Given the description of an element on the screen output the (x, y) to click on. 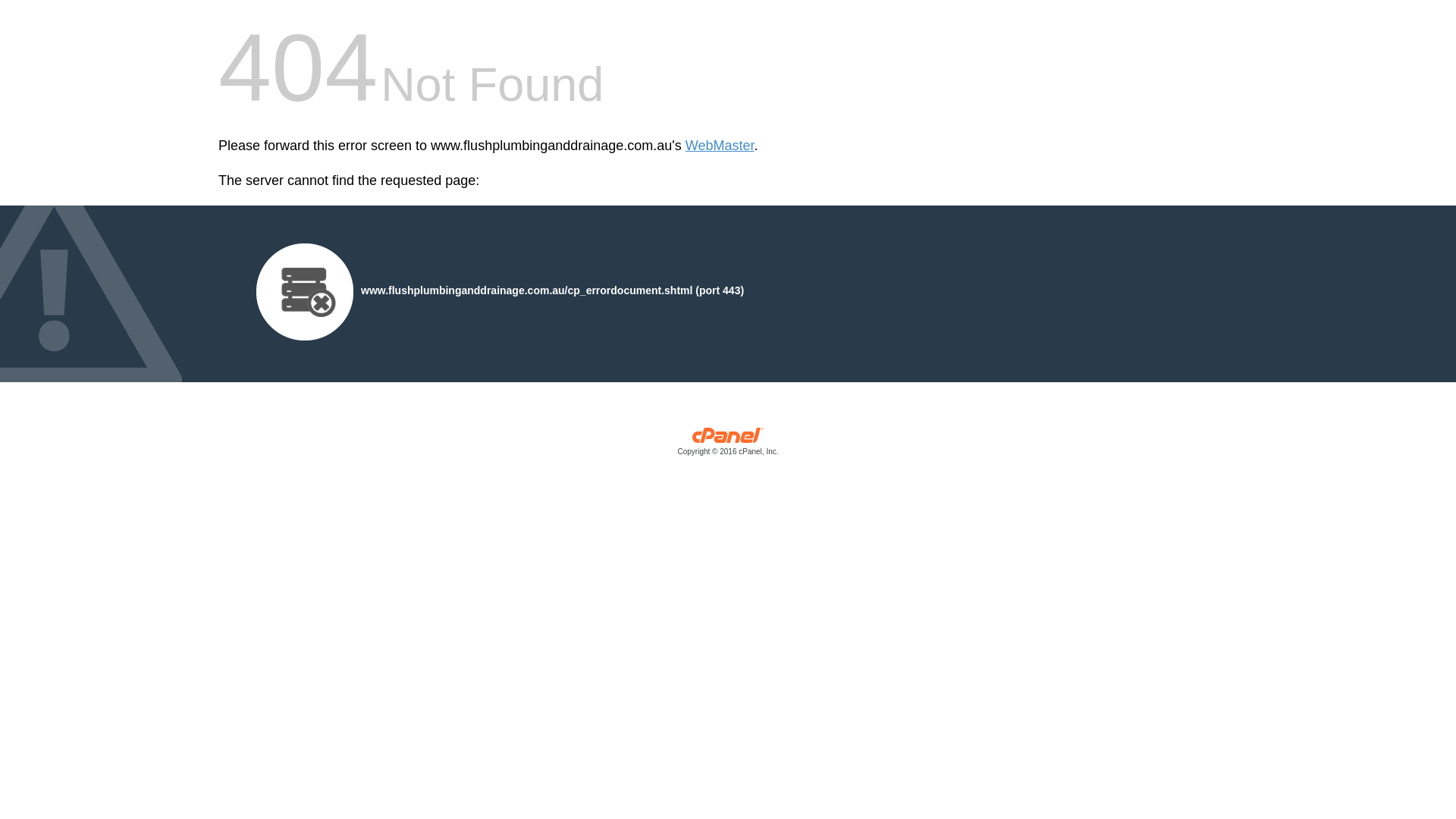
WebMaster Element type: text (719, 145)
